Given the description of an element on the screen output the (x, y) to click on. 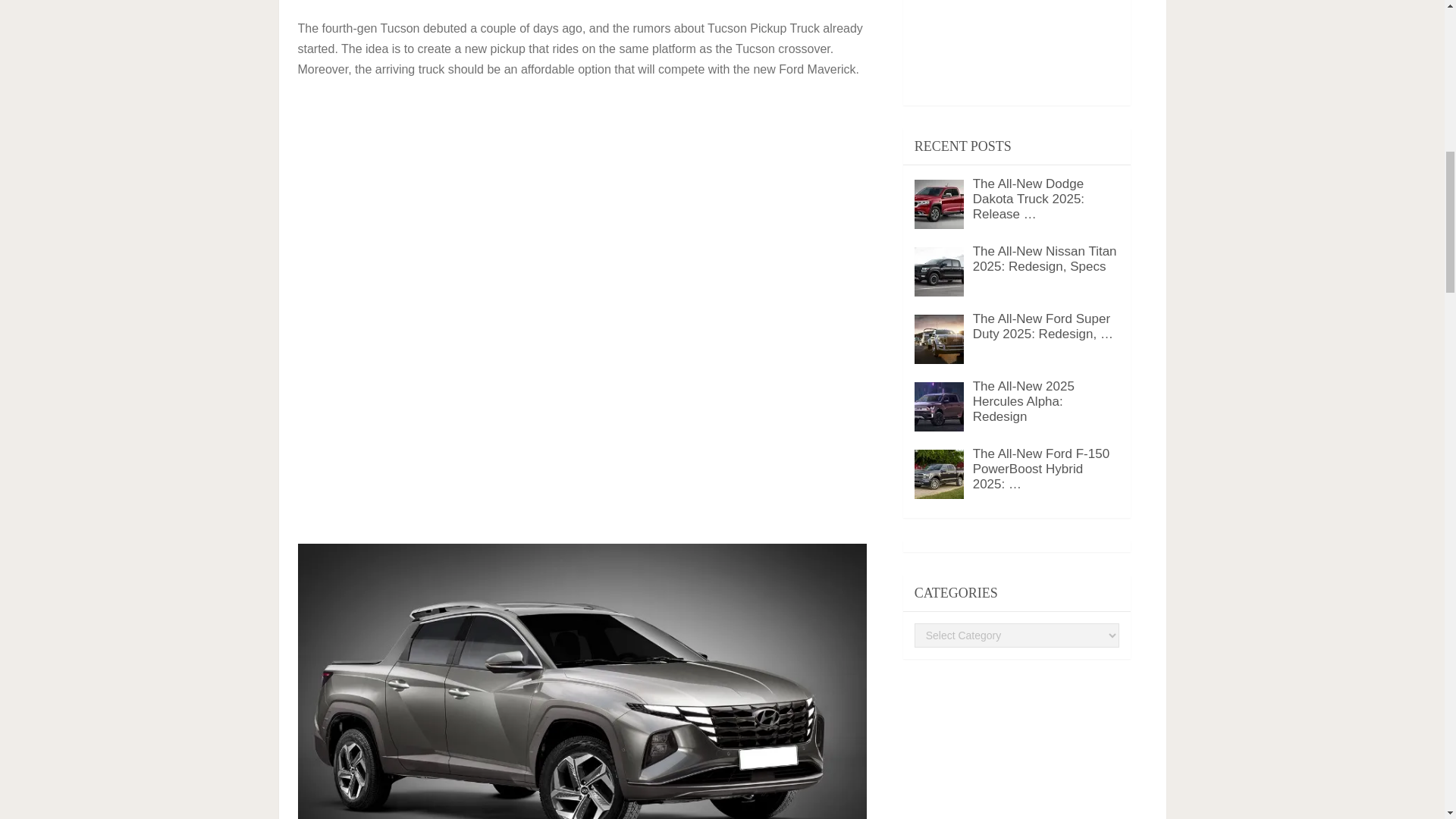
Advertisement (582, 425)
Advertisement (424, 201)
